Given the description of an element on the screen output the (x, y) to click on. 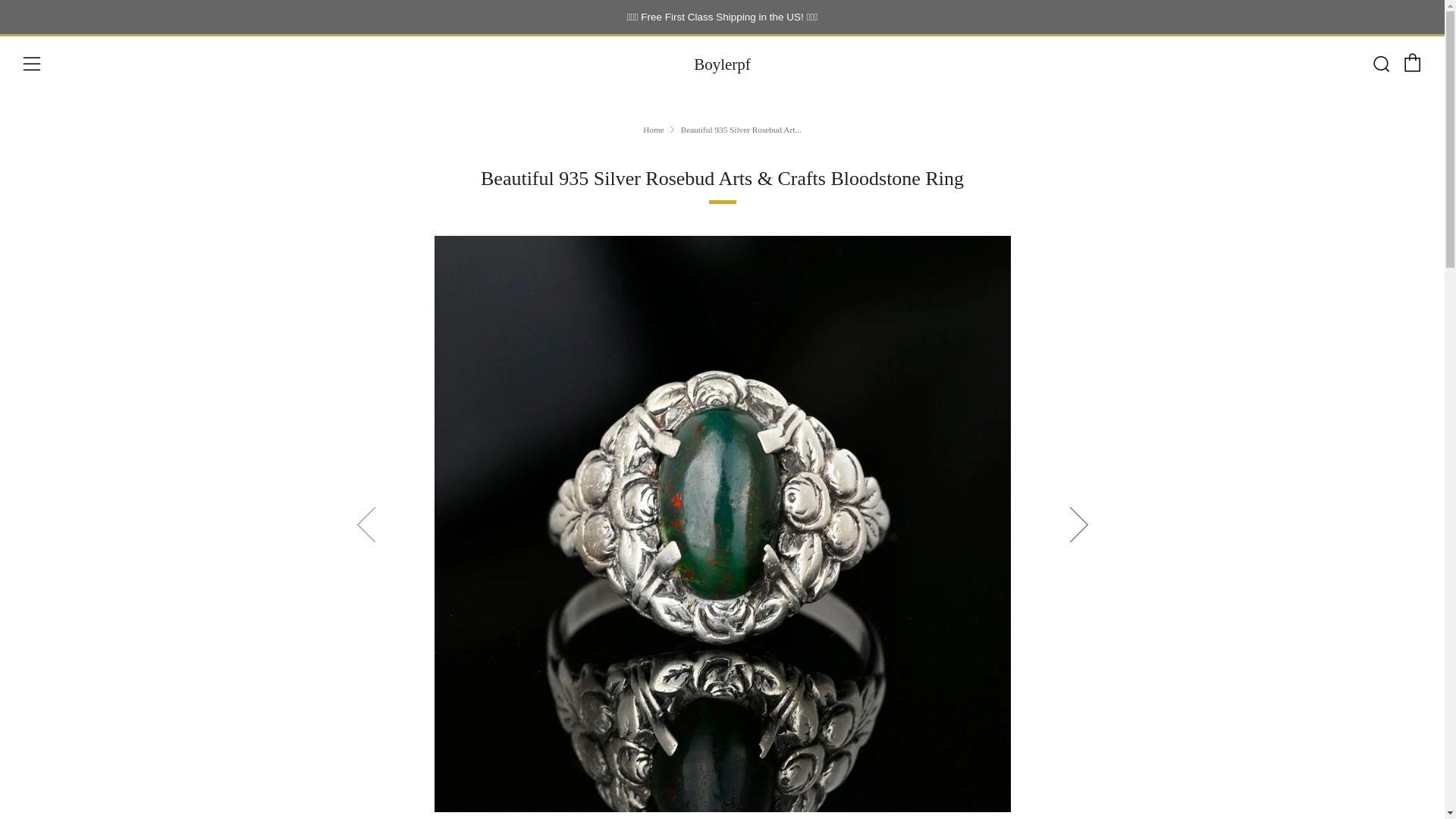
Home (653, 129)
